Given the description of an element on the screen output the (x, y) to click on. 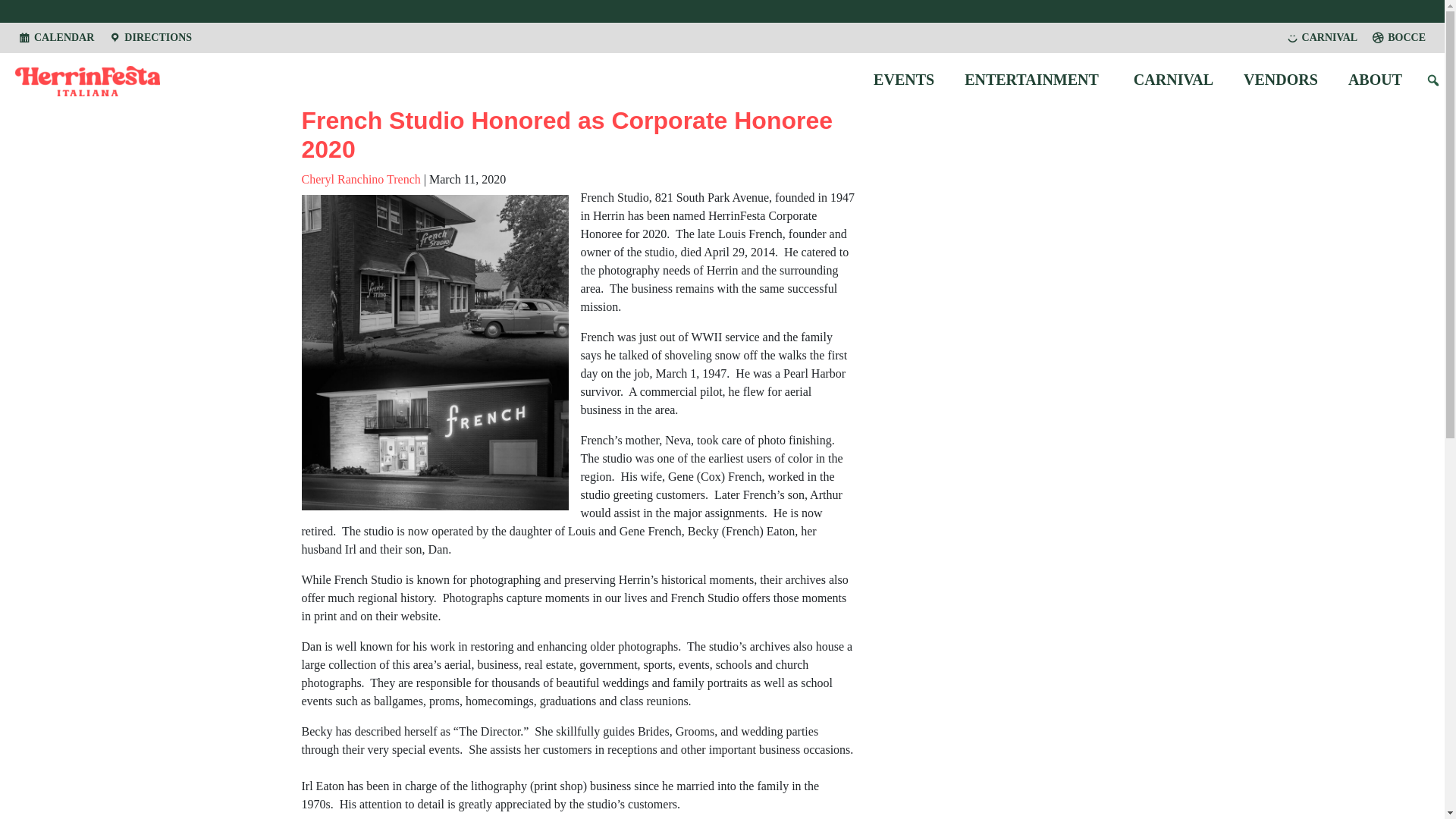
CARNIVAL (1173, 79)
Cheryl Ranchino Trench (360, 178)
DIRECTIONS (150, 37)
French Studio Honored as Corporate Honoree 2020 (566, 134)
CARNIVAL (1322, 37)
EVENTS (904, 79)
BOCCE (1398, 37)
ABOUT (1377, 79)
CALENDAR (56, 37)
French Studio Honored as Corporate Honoree 2020 (566, 134)
